Given the description of an element on the screen output the (x, y) to click on. 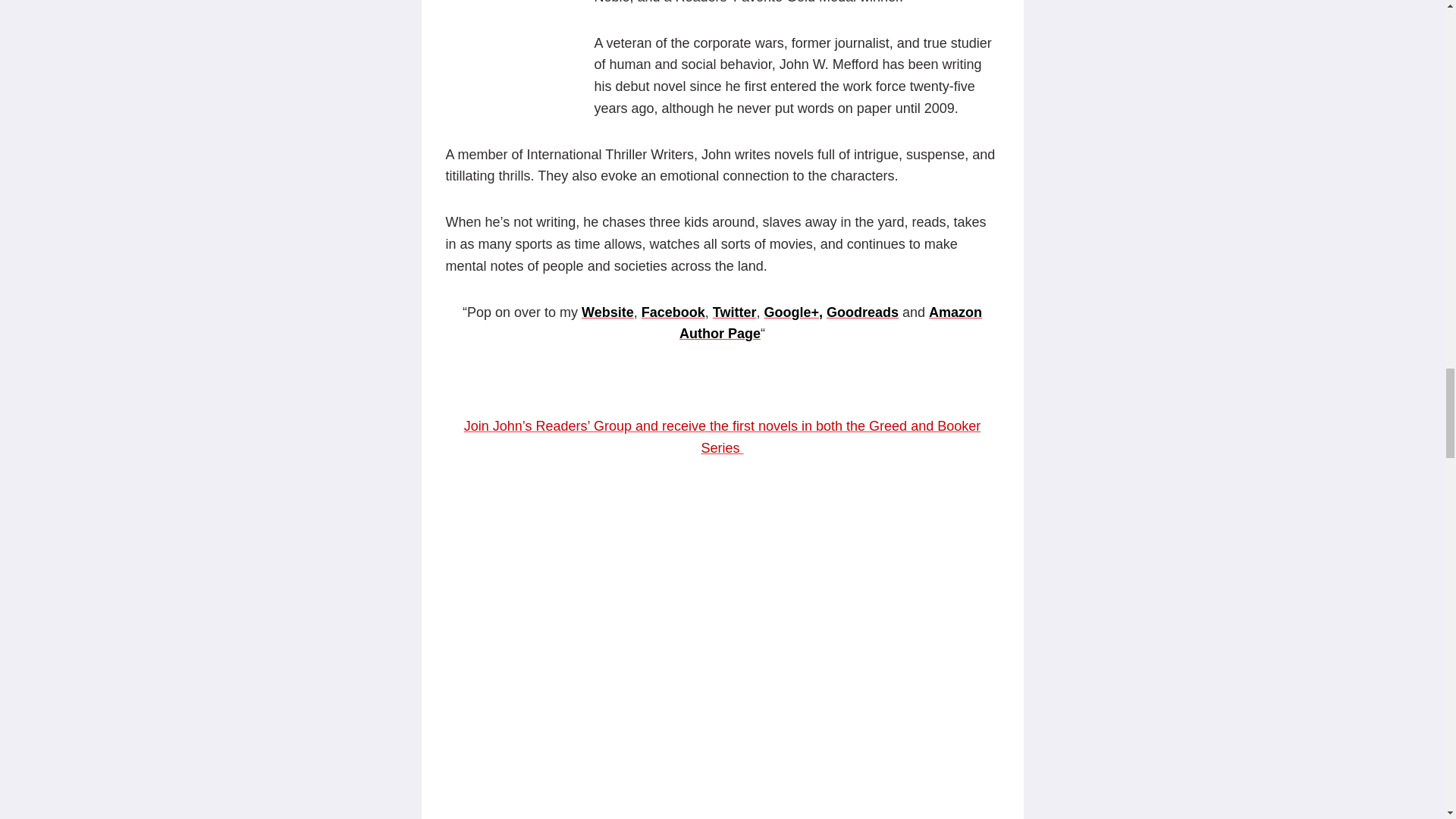
Facebook (673, 312)
Website (606, 312)
Twitter (735, 312)
Goodreads (862, 312)
Amazon Author Page (830, 323)
